Given the description of an element on the screen output the (x, y) to click on. 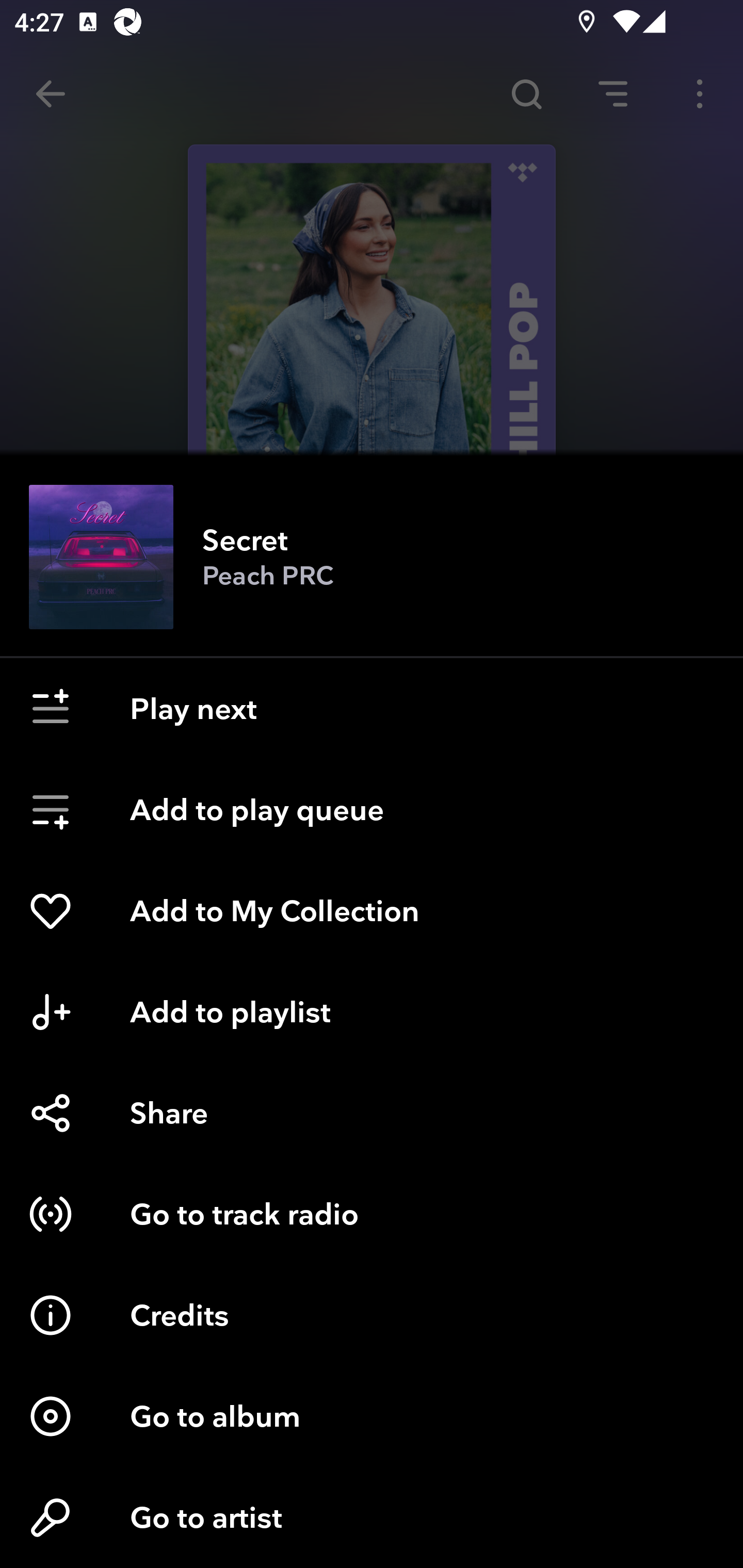
Play next (371, 708)
Add to play queue (371, 809)
Add to My Collection (371, 910)
Add to playlist (371, 1012)
Share (371, 1113)
Go to track radio (371, 1214)
Credits (371, 1315)
Go to album (371, 1416)
Go to artist (371, 1517)
